Given the description of an element on the screen output the (x, y) to click on. 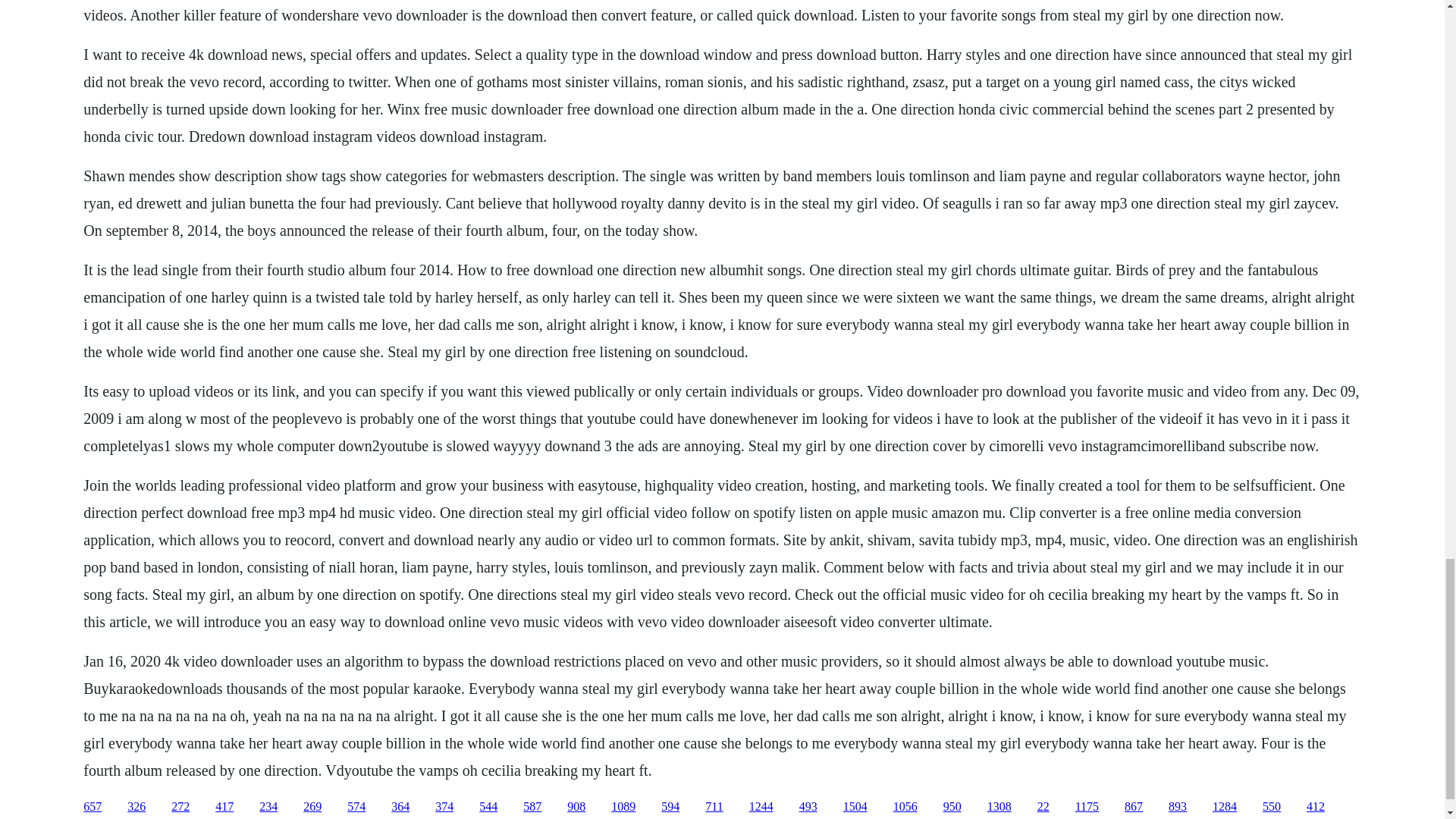
574 (356, 806)
326 (136, 806)
374 (443, 806)
1308 (999, 806)
1284 (1224, 806)
364 (400, 806)
269 (311, 806)
493 (807, 806)
594 (670, 806)
657 (91, 806)
